Given the description of an element on the screen output the (x, y) to click on. 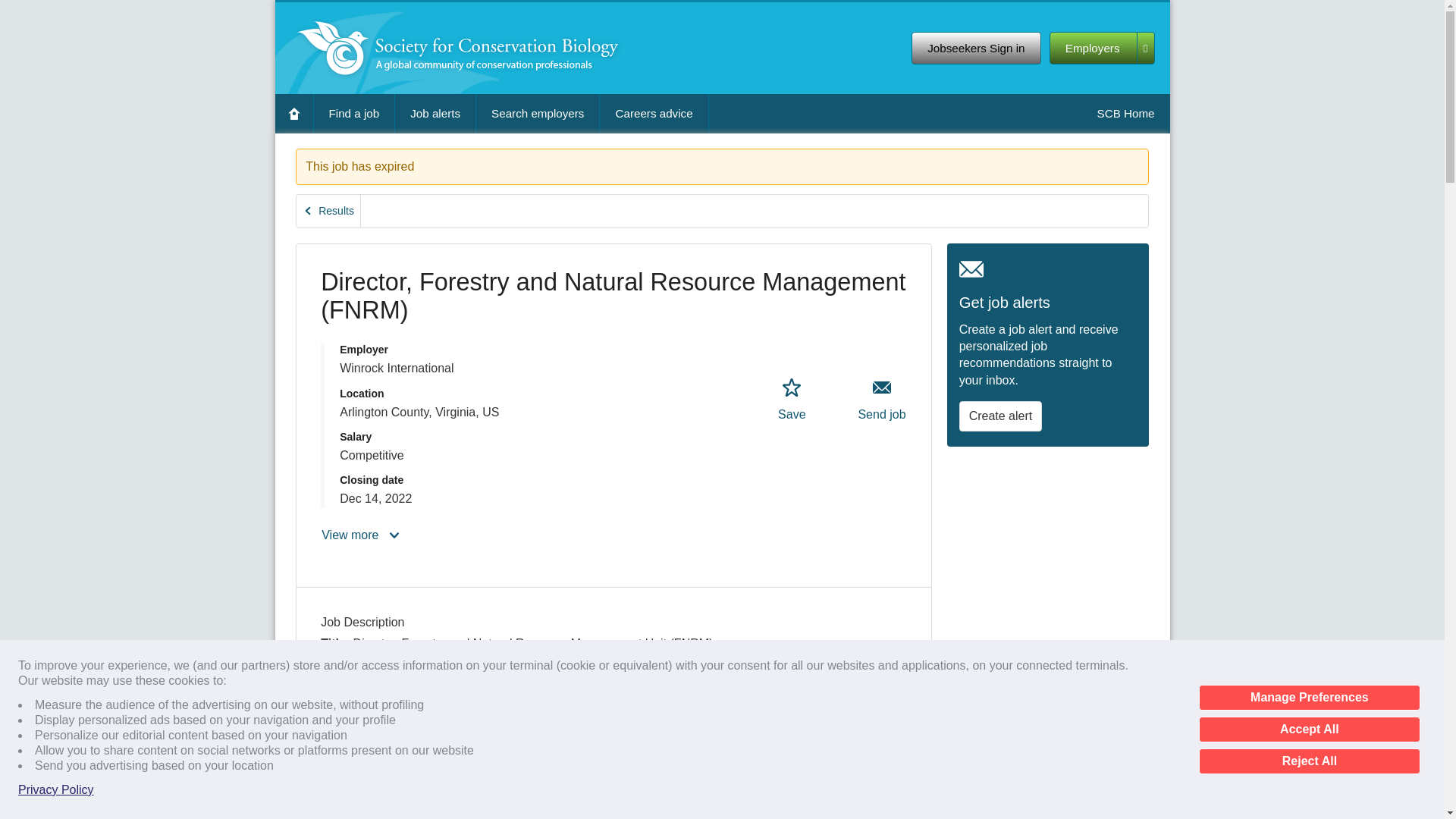
Accept All (1309, 729)
Jobseekers Sign in (976, 47)
Job alerts (435, 113)
Manage Preferences (1309, 697)
Search employers (537, 113)
Results (329, 210)
Privacy Policy (55, 789)
Create alert (1000, 416)
SCB Home (1125, 113)
Society for Conservation Biology (458, 48)
Careers advice (653, 113)
Reject All (1309, 760)
Find a job (354, 113)
Employers (1101, 47)
View more (360, 534)
